Given the description of an element on the screen output the (x, y) to click on. 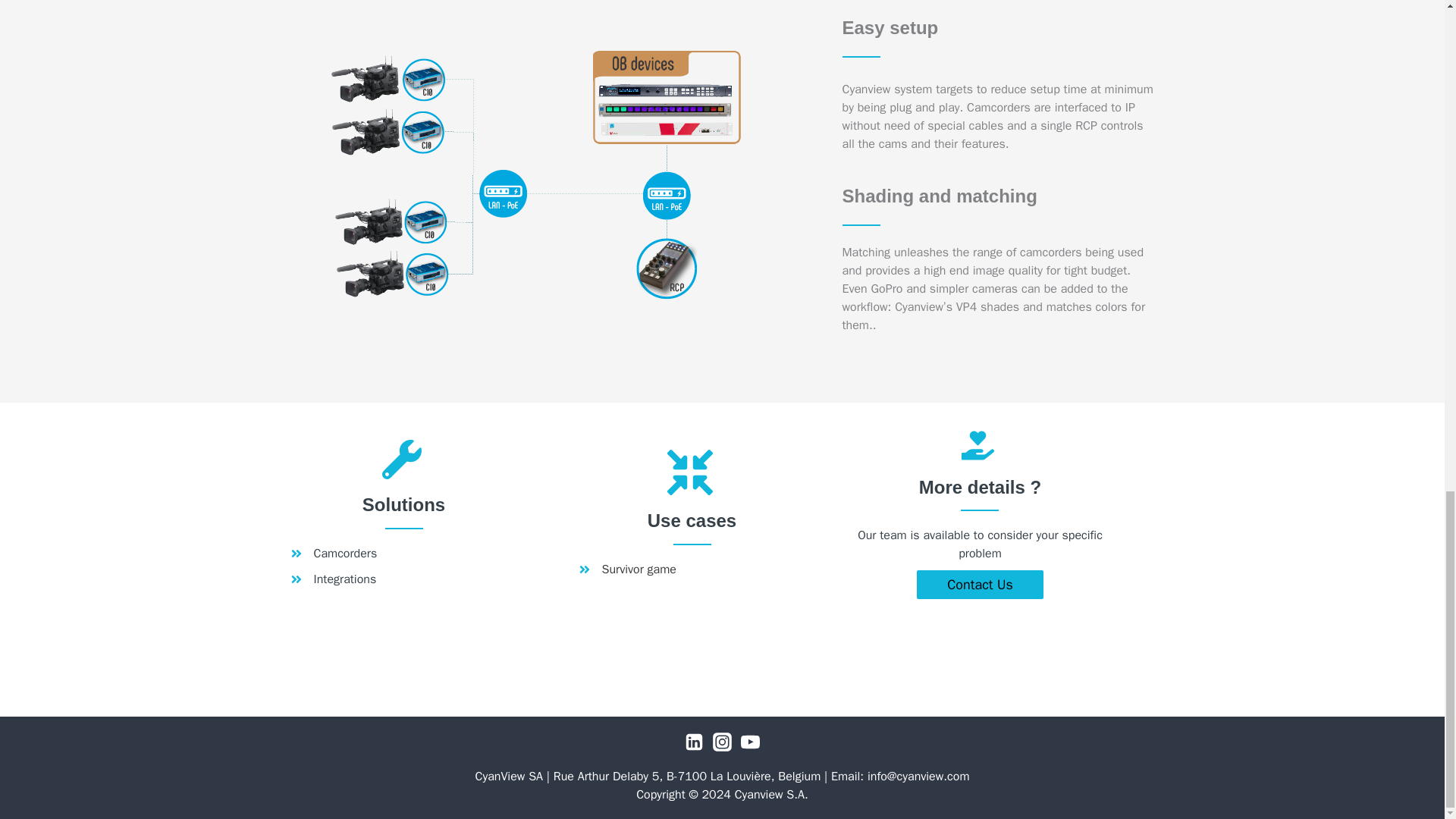
Contact Us (980, 584)
